Given the description of an element on the screen output the (x, y) to click on. 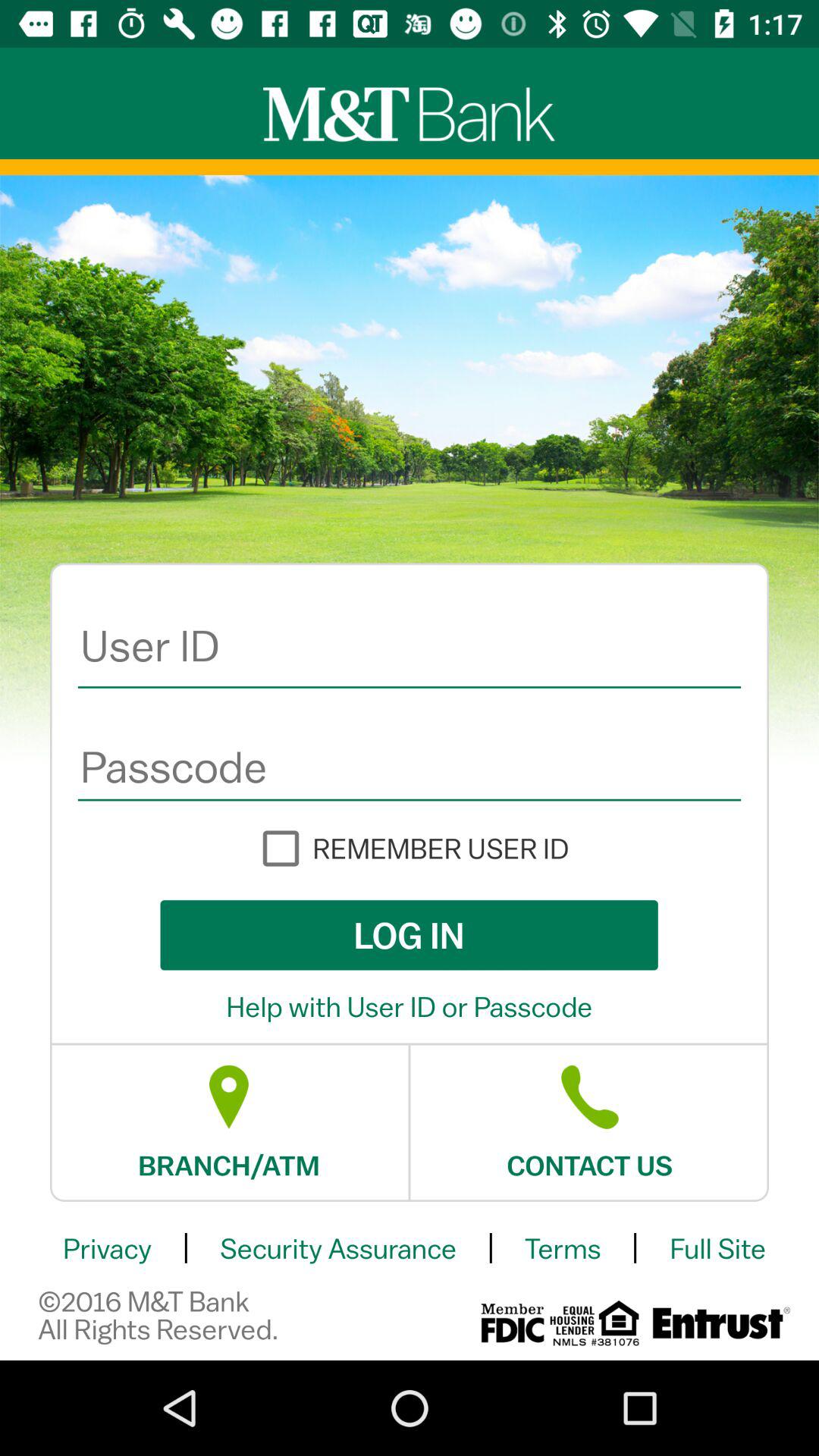
tap item below the branch/atm (107, 1247)
